Given the description of an element on the screen output the (x, y) to click on. 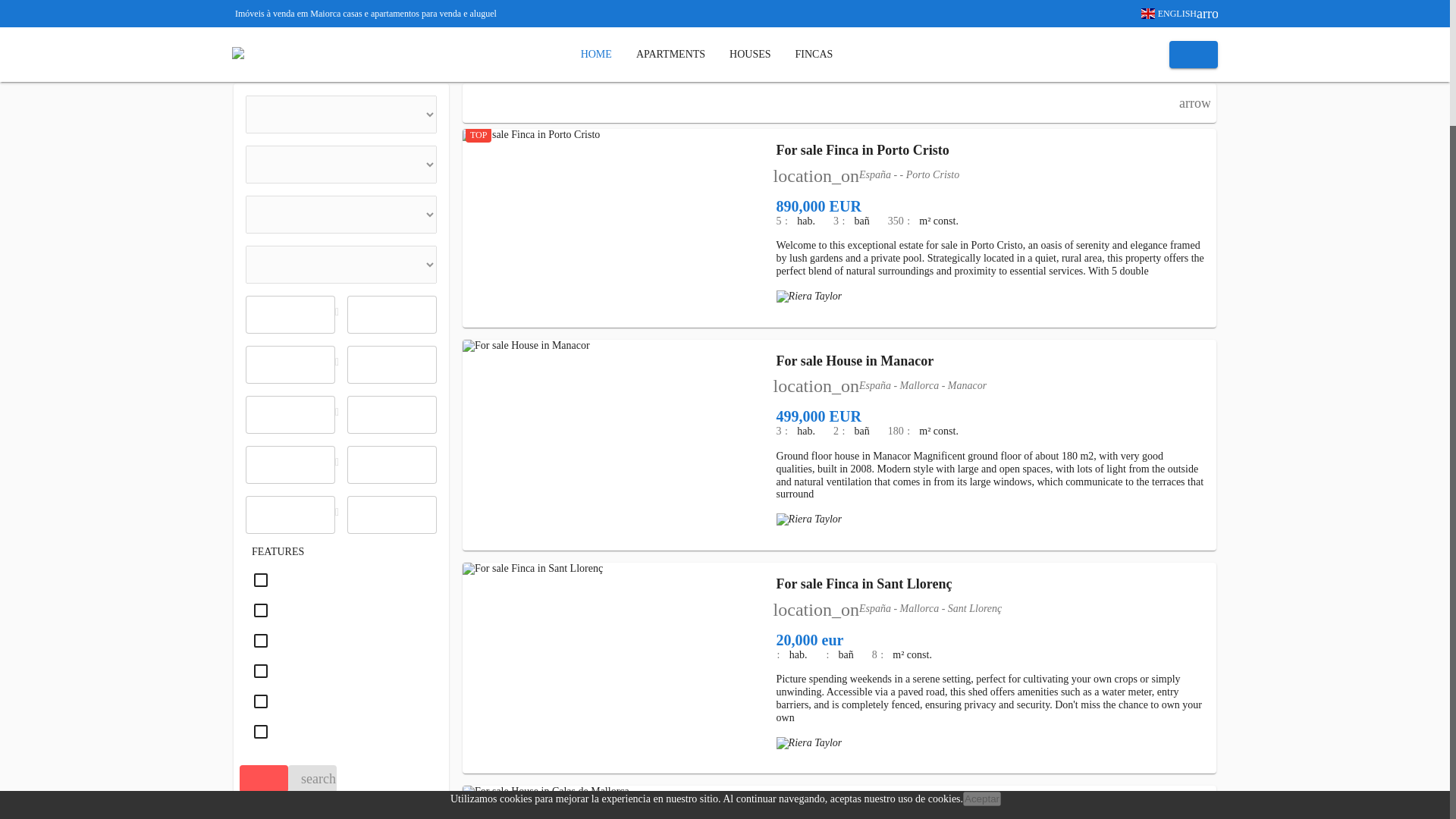
country (341, 114)
HOUSES (750, 54)
search (312, 778)
APARTMENTS (670, 54)
HOME (596, 54)
FINCAS (814, 54)
t (341, 264)
